Given the description of an element on the screen output the (x, y) to click on. 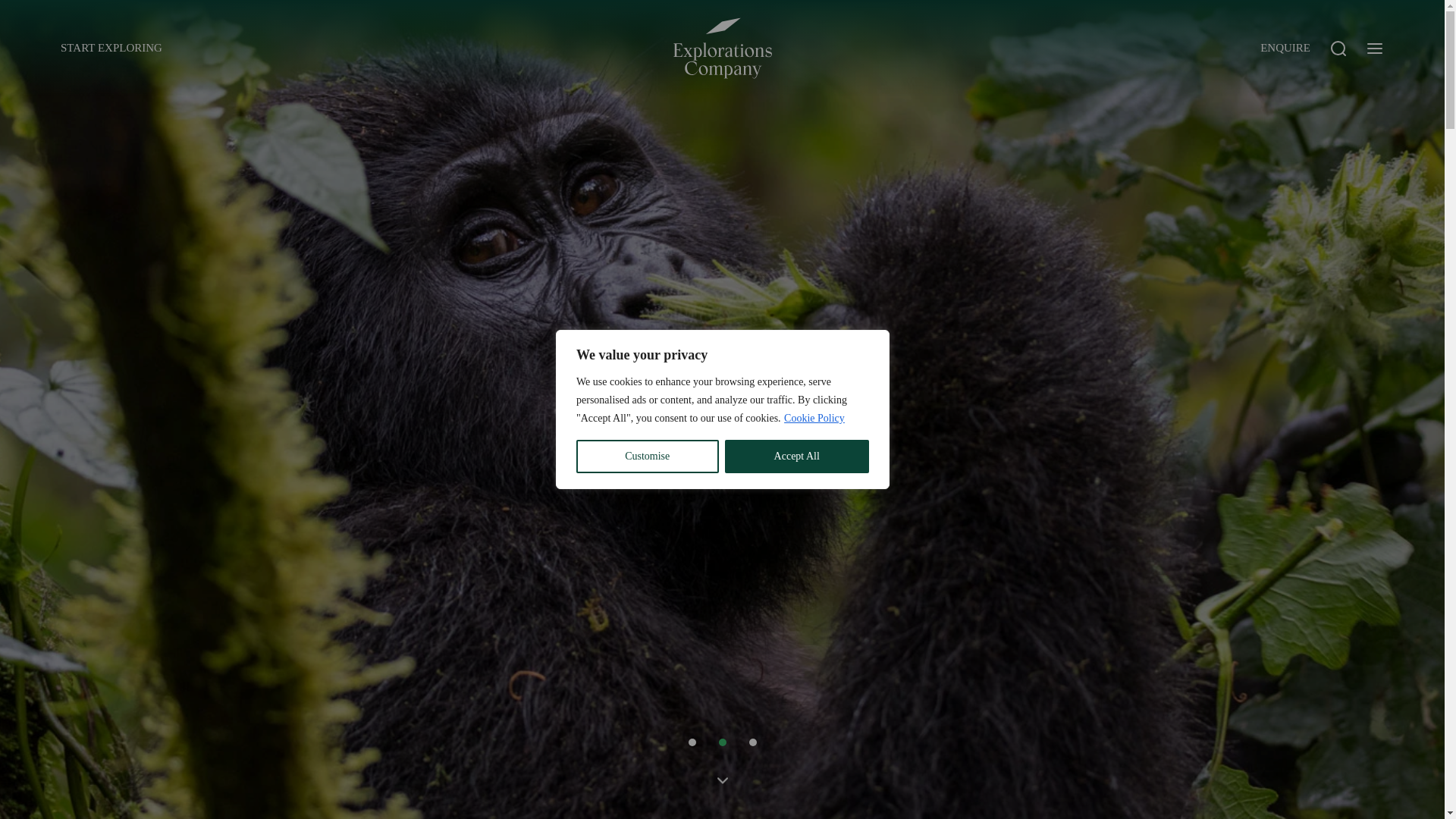
START EXPLORING (113, 48)
ENQUIRE (1285, 48)
Accept All (797, 456)
Cookie Policy (814, 418)
Customise (647, 456)
